Given the description of an element on the screen output the (x, y) to click on. 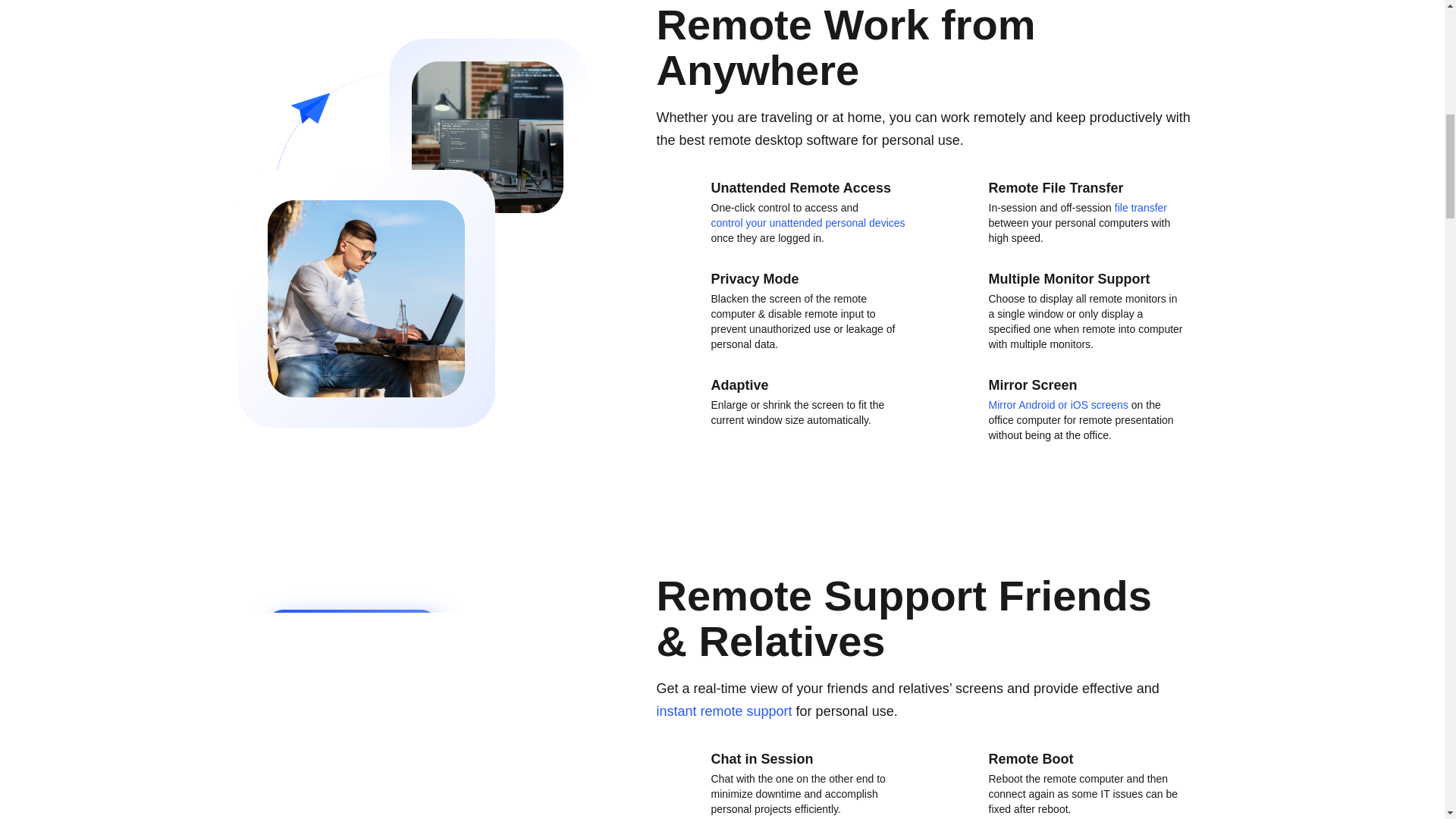
instant remote support (724, 711)
file transfer (1141, 207)
Mirror Android or iOS screens (1058, 404)
control your unattended personal devices (808, 222)
